Given the description of an element on the screen output the (x, y) to click on. 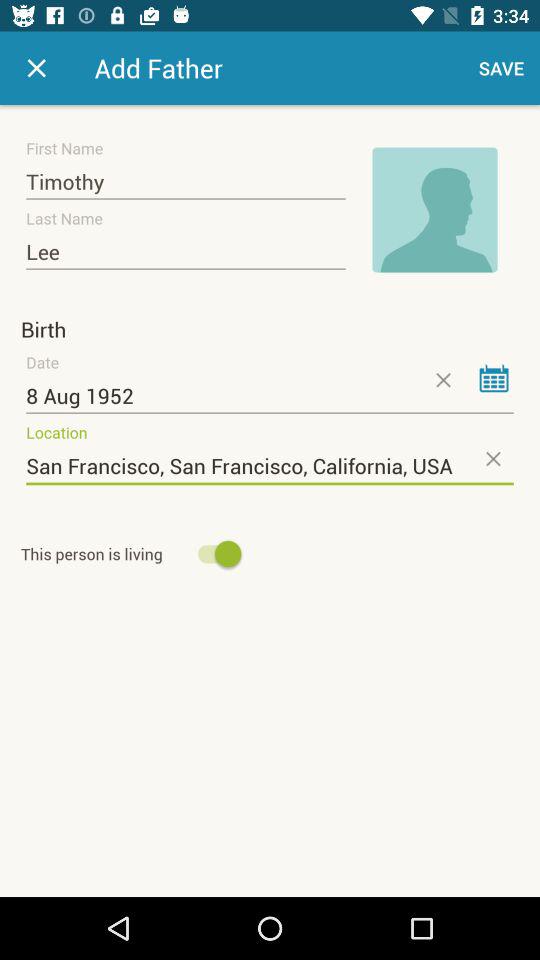
deelte location info (492, 458)
